Given the description of an element on the screen output the (x, y) to click on. 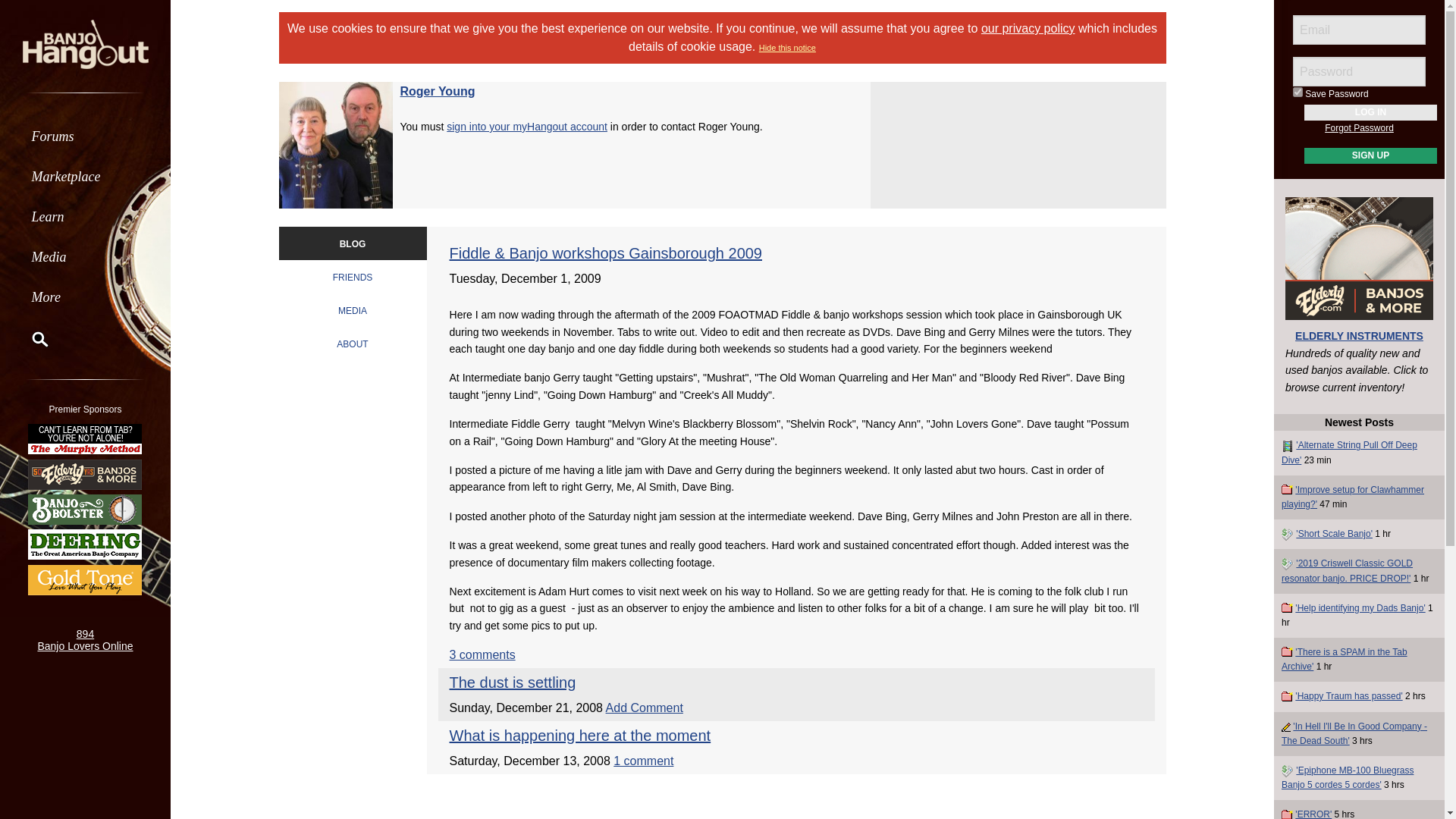
Elderly Instruments - Since 1972 (84, 473)
Deering Banjos (84, 544)
The Murphy Method (84, 438)
Log In (1370, 112)
Sign Up (1370, 155)
Gold Tone (84, 579)
Banjo Bolster Tone Enhancer (84, 509)
Forums (85, 136)
Marketplace (85, 176)
true (1297, 91)
Go to Home Page (85, 42)
